Given the description of an element on the screen output the (x, y) to click on. 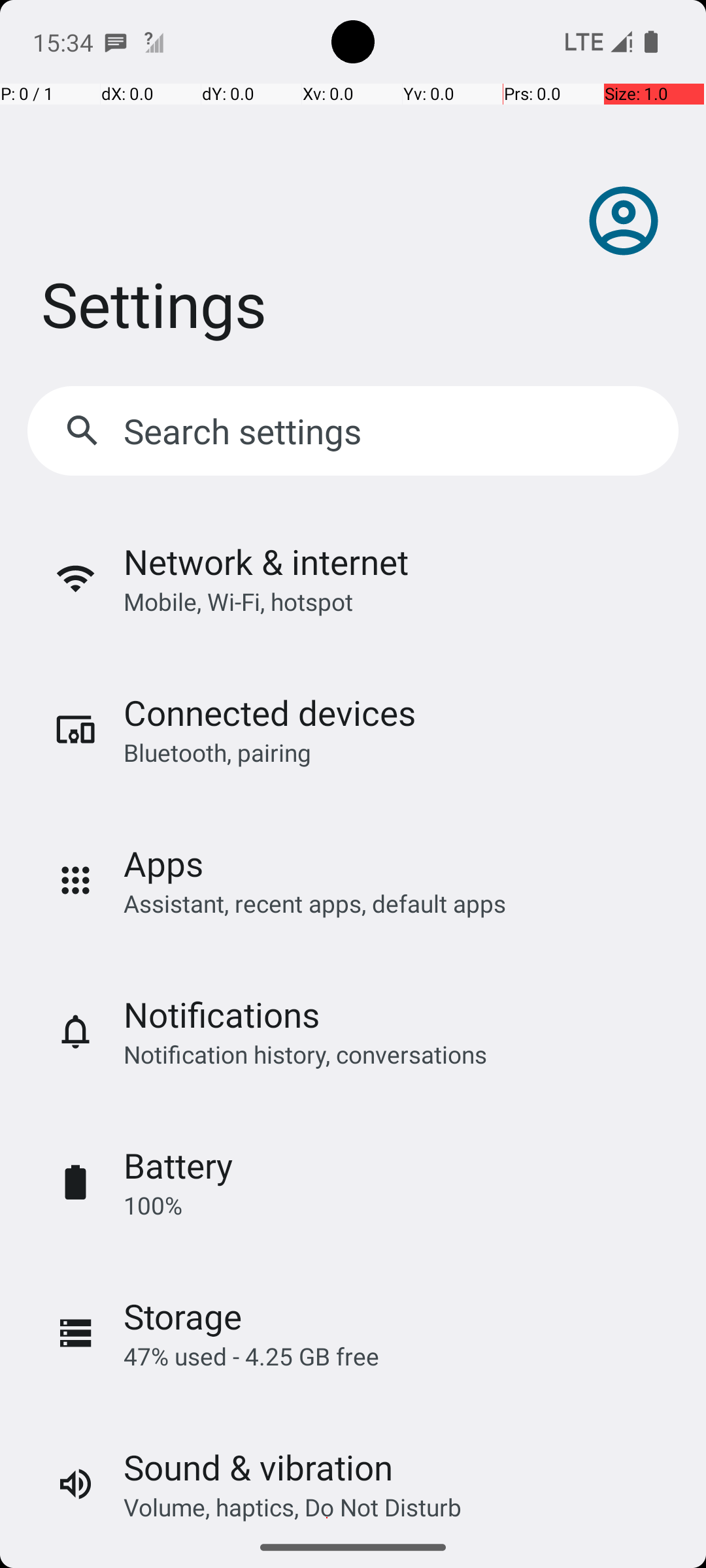
47% used - 4.25 GB free Element type: android.widget.TextView (251, 1355)
